Given the description of an element on the screen output the (x, y) to click on. 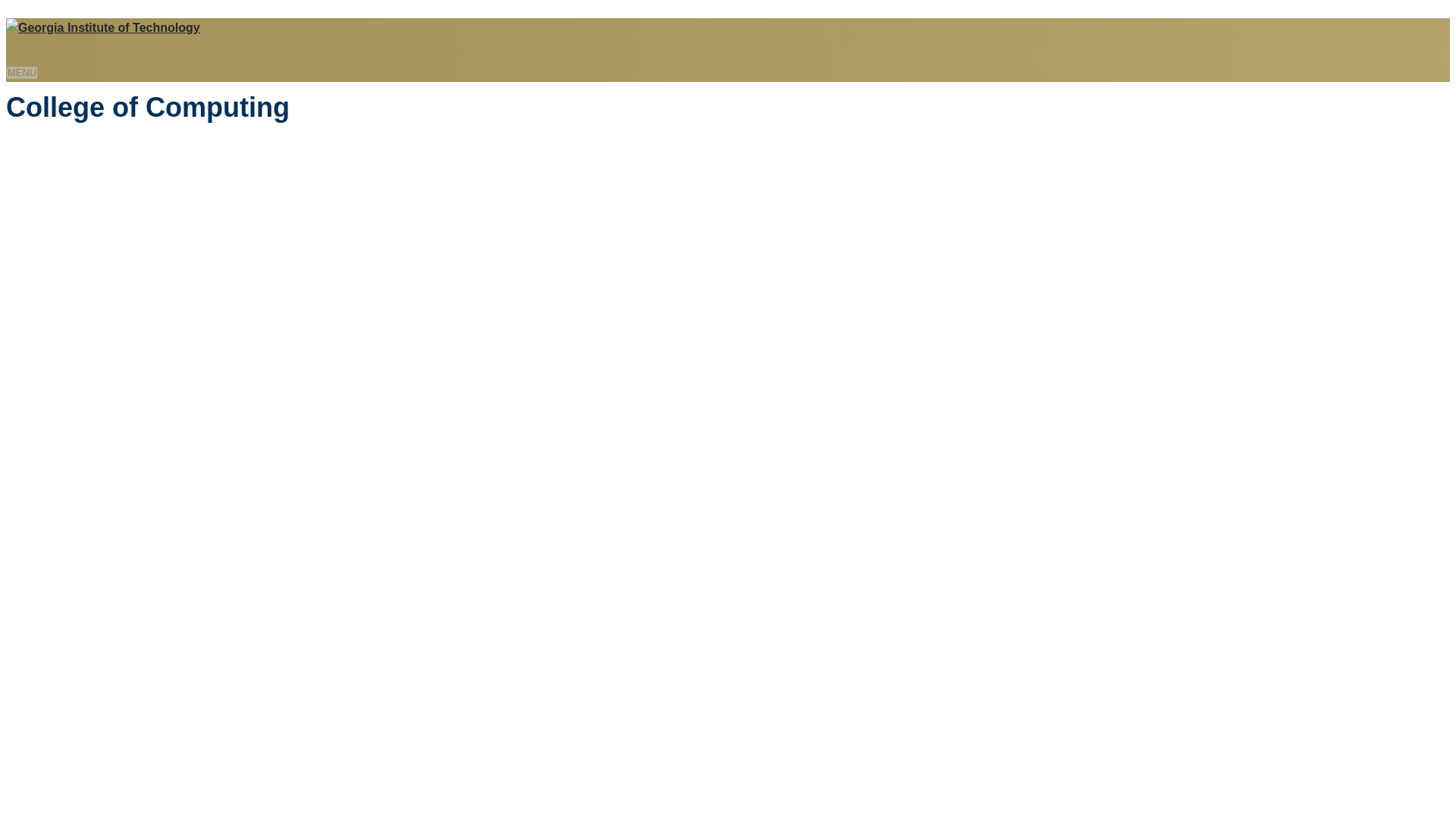
Georgia Institute of Technology (102, 27)
MENU (21, 72)
College of Computing (147, 107)
College of Computing (147, 107)
